Given the description of an element on the screen output the (x, y) to click on. 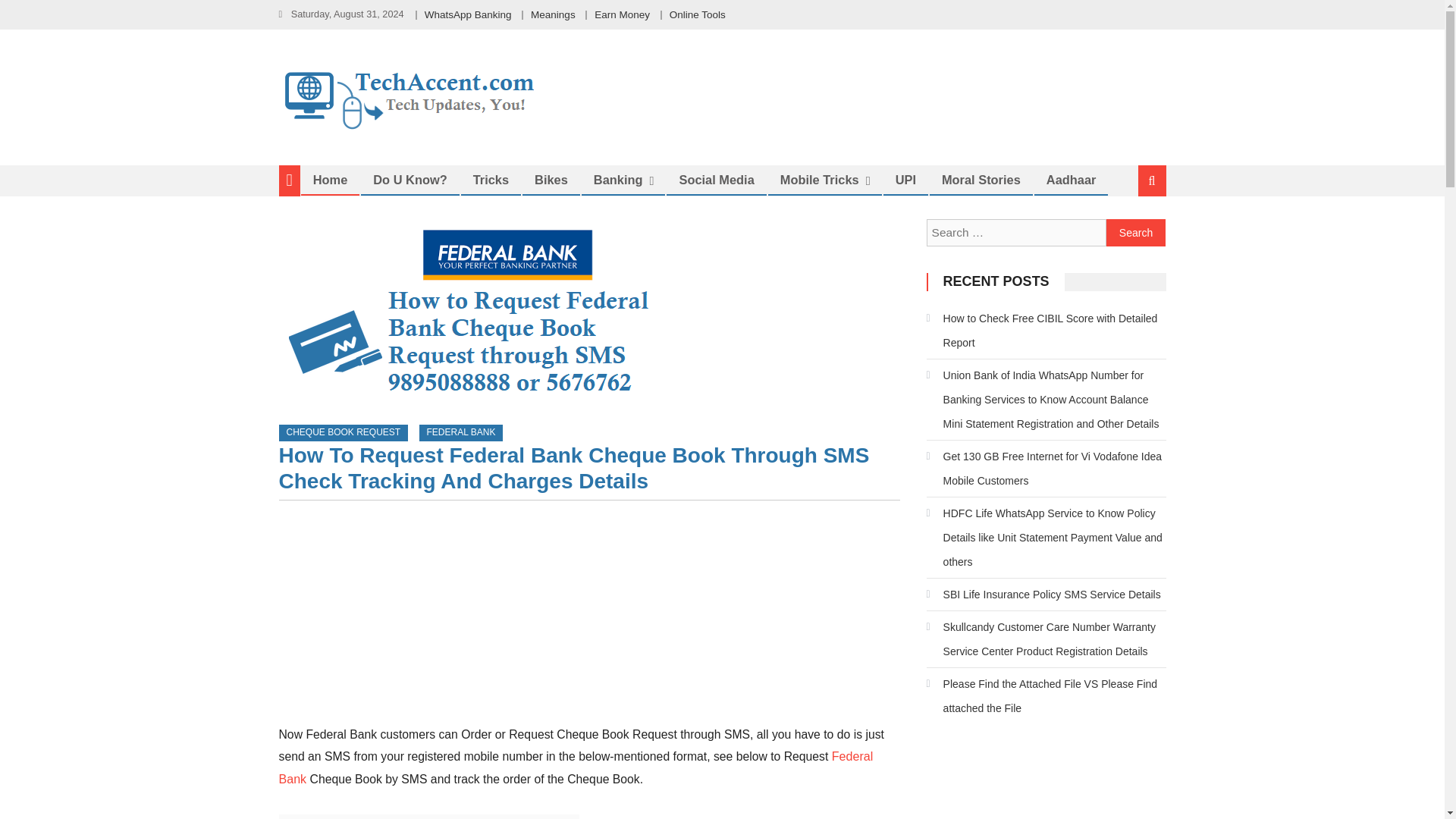
FEDERAL BANK (460, 433)
Banking (617, 179)
Tricks (490, 179)
Earn Money (621, 14)
Federal Bank (576, 766)
CHEQUE BOOK REQUEST (344, 433)
Do U Know? (409, 179)
Advertisement (589, 617)
Home (330, 179)
Moral Stories (981, 179)
